Given the description of an element on the screen output the (x, y) to click on. 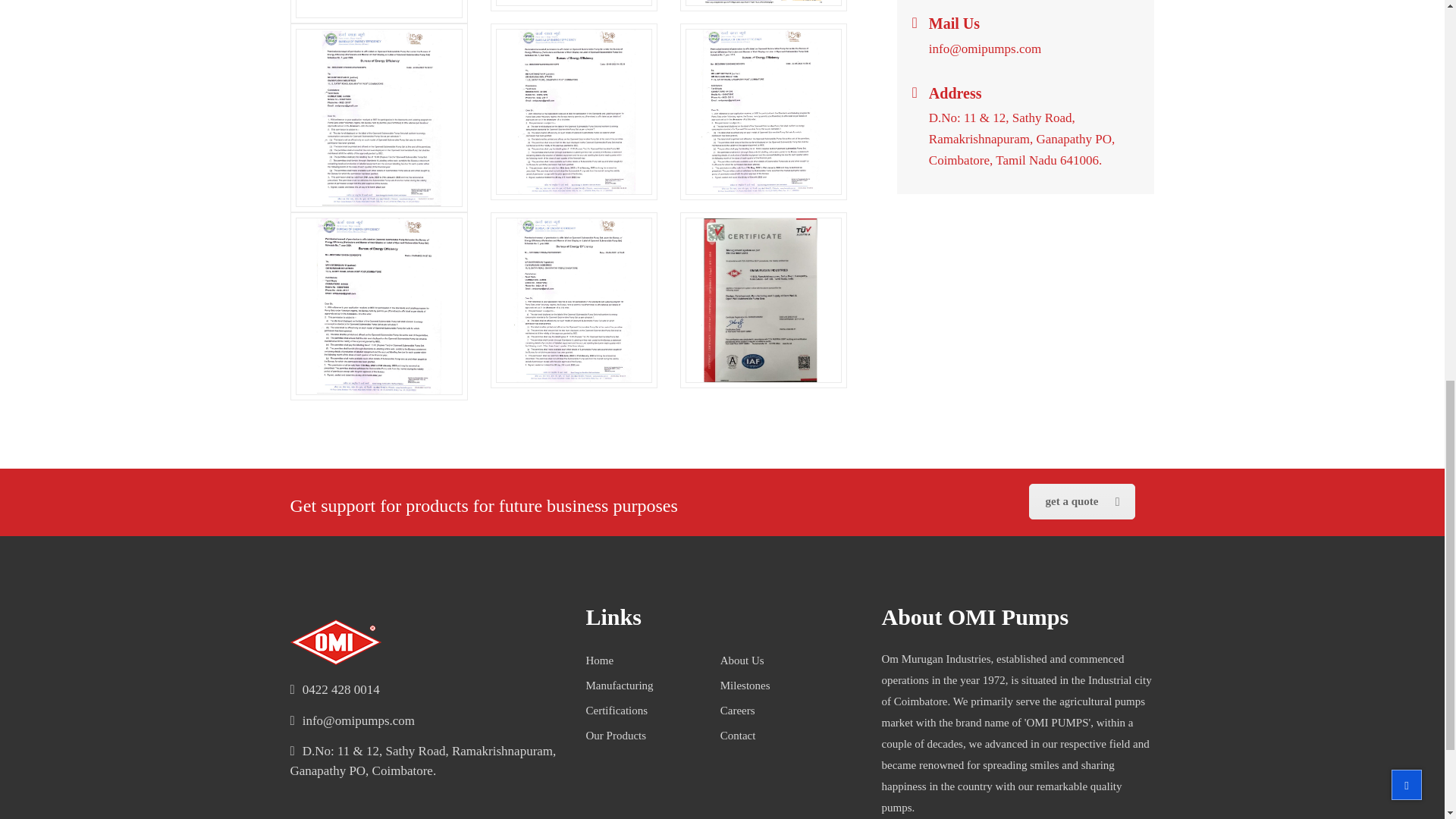
STAR-RATE--OW-OVO7265 (574, 300)
BIS-CERTIFICATE-OPEN-WELL (379, 9)
STAR-RATE--OW--OVO5265 (379, 306)
STAR-RATED--OW-OAHO350 (379, 117)
STAR-RATED-OW-OAHO550 (574, 111)
OMMURUGAN-IND (763, 2)
STAR-RATED-OW-OEHO565 (763, 111)
TUV-AUSTRIA--CERTIFICATE (763, 300)
